Given the description of an element on the screen output the (x, y) to click on. 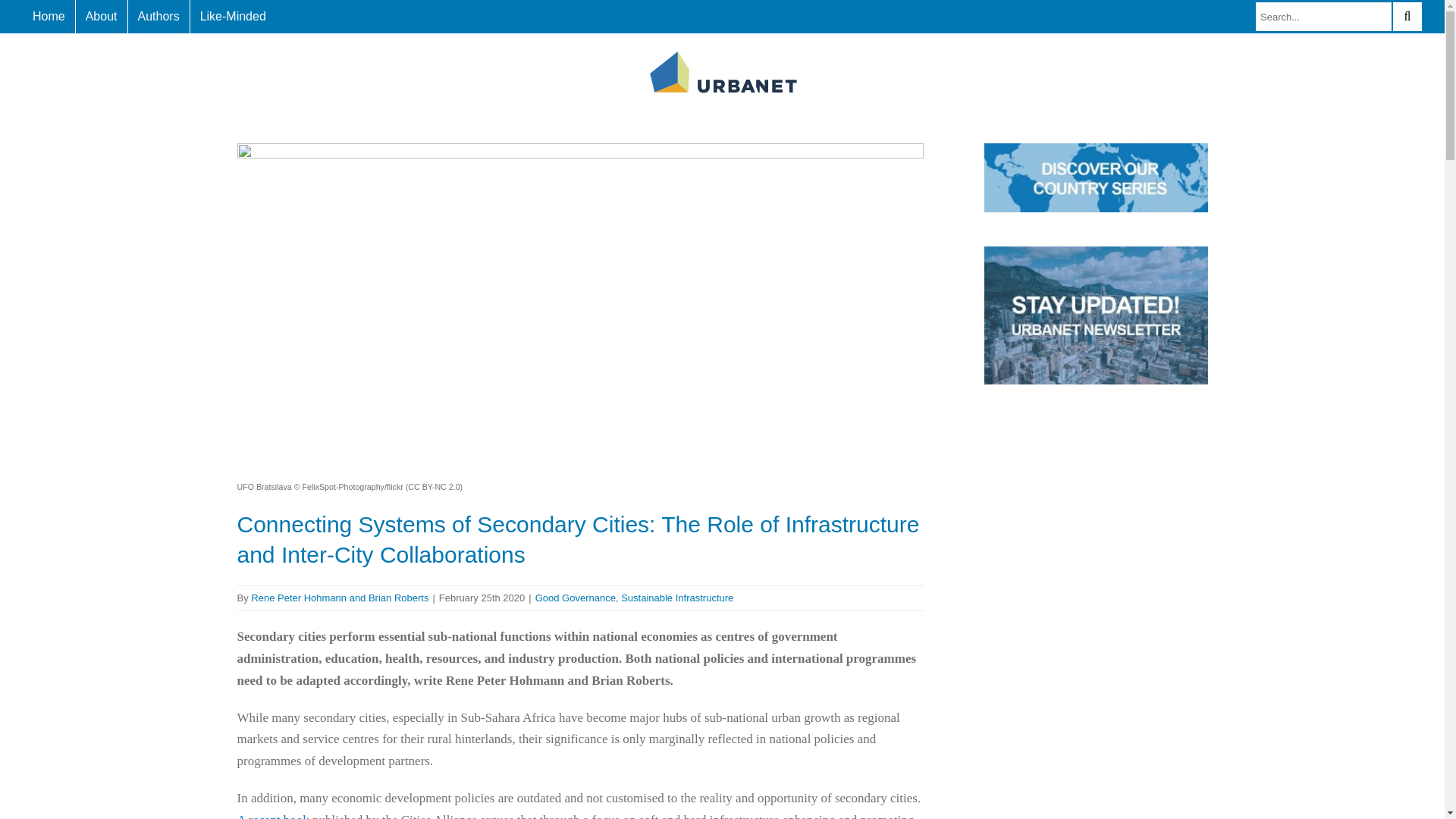
Like-Minded (233, 16)
Authors (158, 16)
About (101, 16)
Posts by Rene Peter Hohmann and Brian Roberts (339, 597)
Home (49, 16)
